Given the description of an element on the screen output the (x, y) to click on. 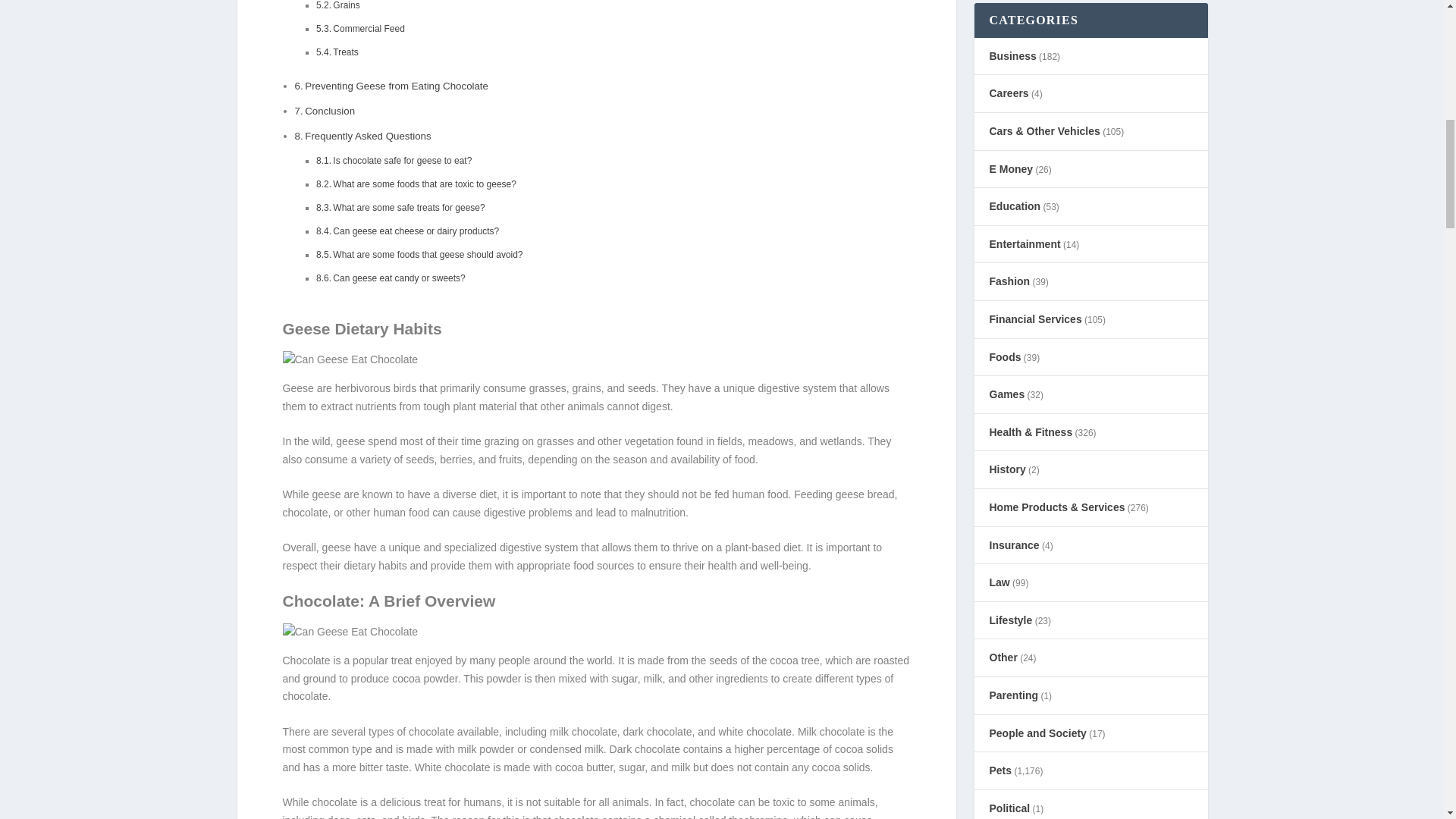
Treats (345, 51)
Commercial Feed (368, 28)
Grains (346, 5)
